Given the description of an element on the screen output the (x, y) to click on. 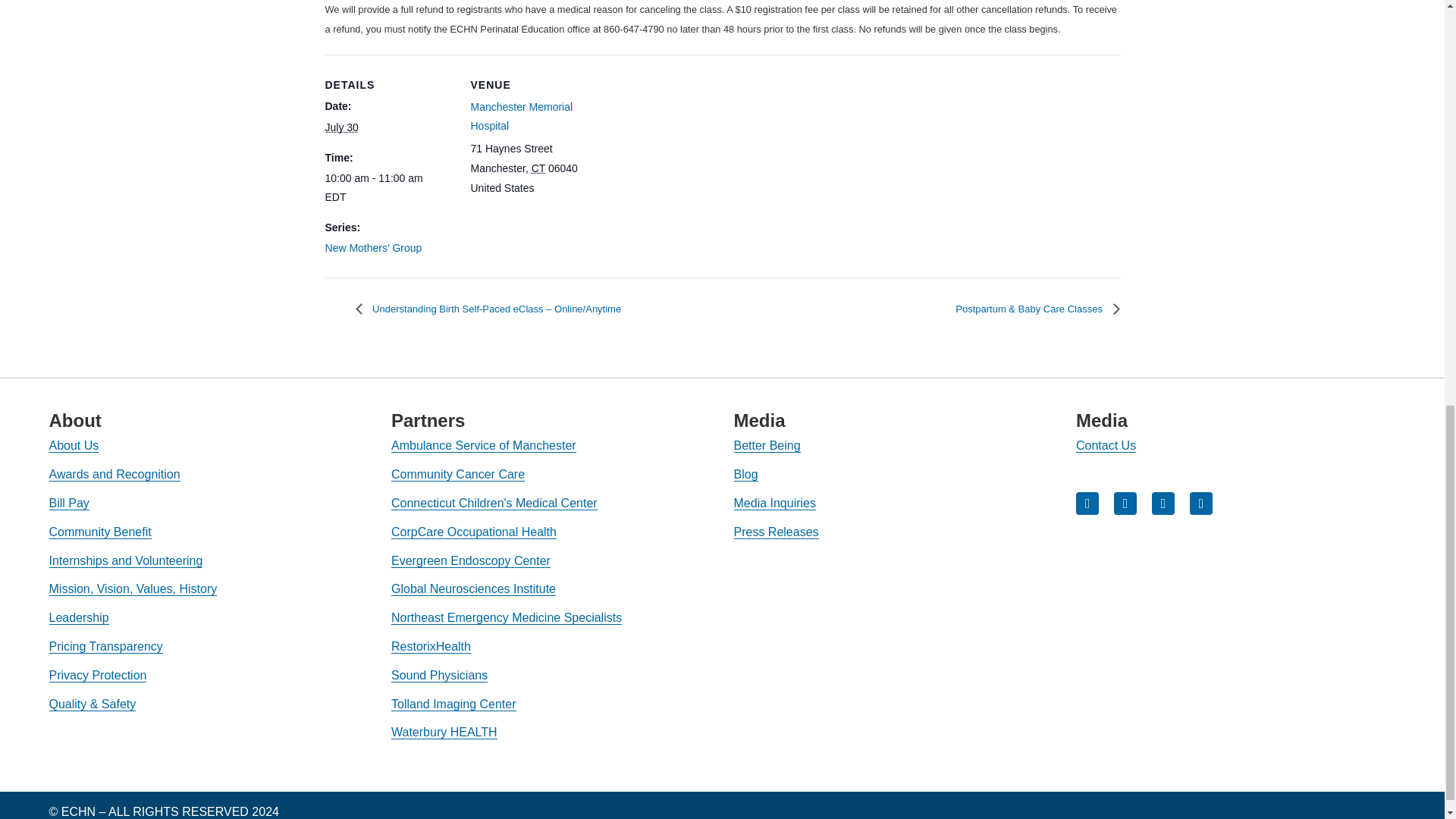
Connecticut (537, 168)
2024-07-30 (341, 127)
2024-07-30 (387, 187)
